Given the description of an element on the screen output the (x, y) to click on. 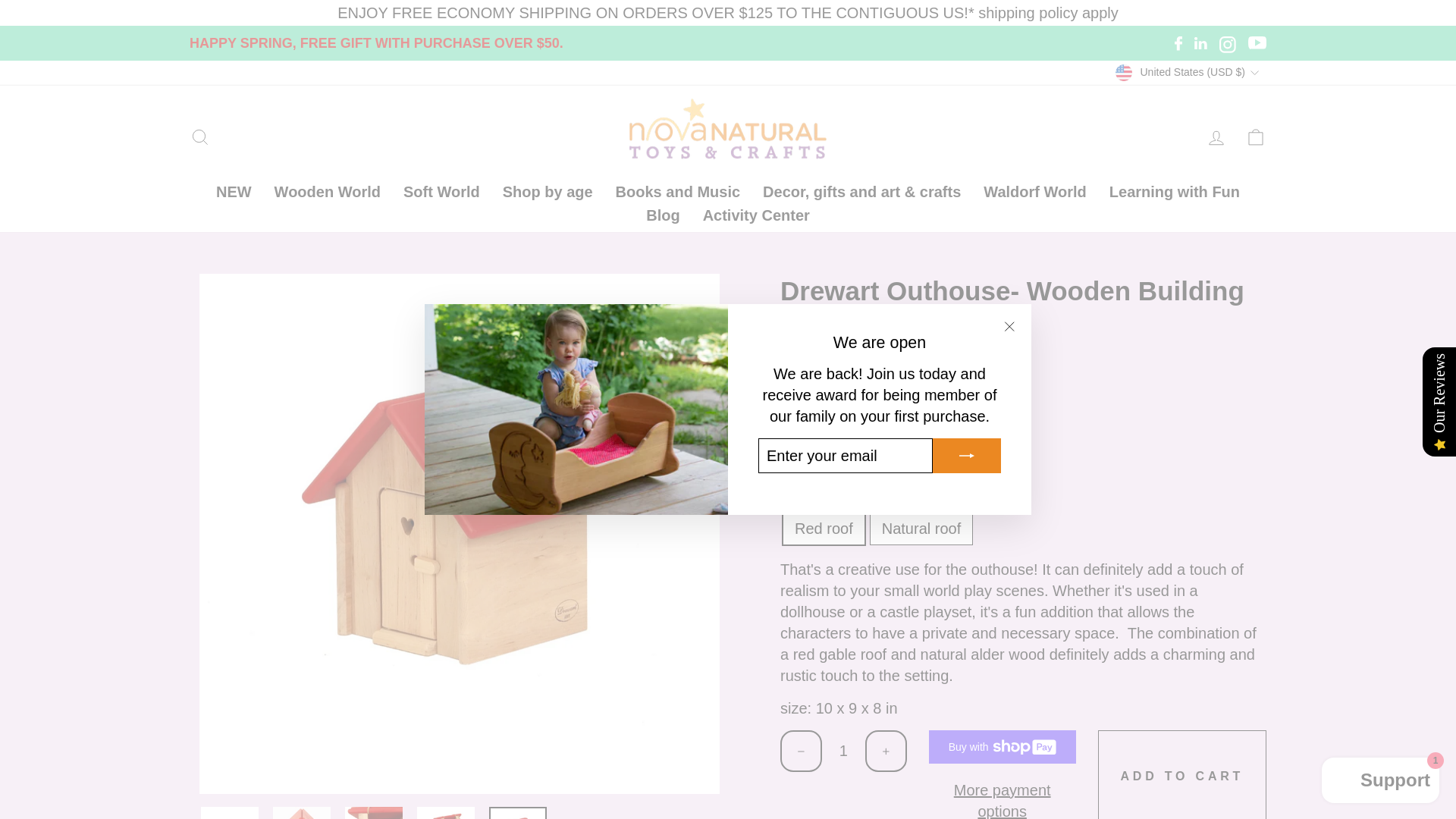
LinkedIn (1200, 42)
YouTube (1256, 42)
1 (843, 751)
Instagram (1228, 42)
